Given the description of an element on the screen output the (x, y) to click on. 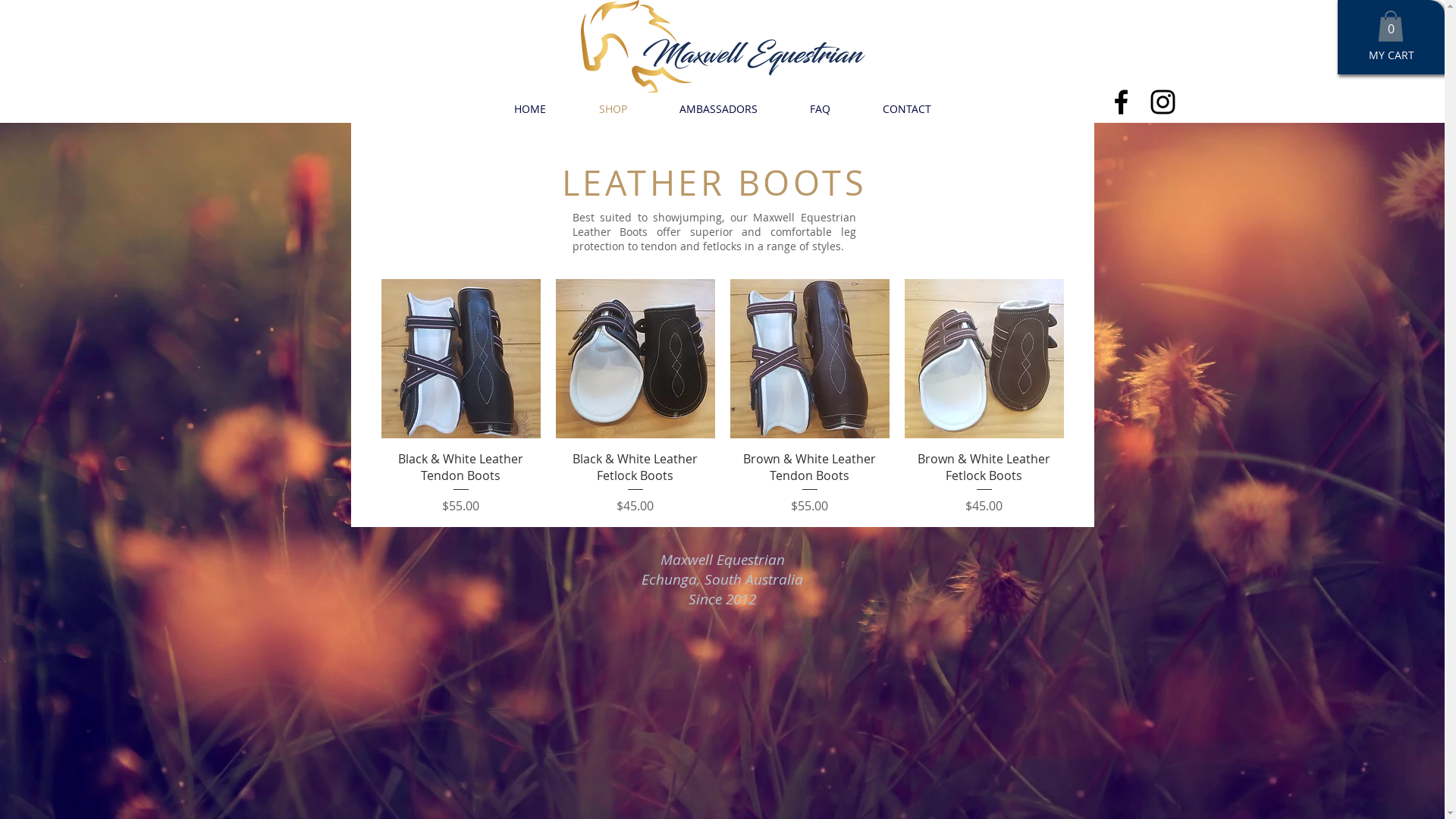
FAQ Element type: text (820, 108)
AMBASSADORS Element type: text (718, 108)
Brown & White Leather Fetlock Boots
Price
$45.00 Element type: text (983, 482)
0 Element type: text (1390, 25)
Black & White Leather Fetlock Boots
Price
$45.00 Element type: text (634, 482)
SHOP Element type: text (611, 108)
Black & White Leather Tendon Boots
Price
$55.00 Element type: text (459, 482)
HOME Element type: text (528, 108)
CONTACT Element type: text (906, 108)
Brown & White Leather Tendon Boots
Price
$55.00 Element type: text (808, 482)
